Given the description of an element on the screen output the (x, y) to click on. 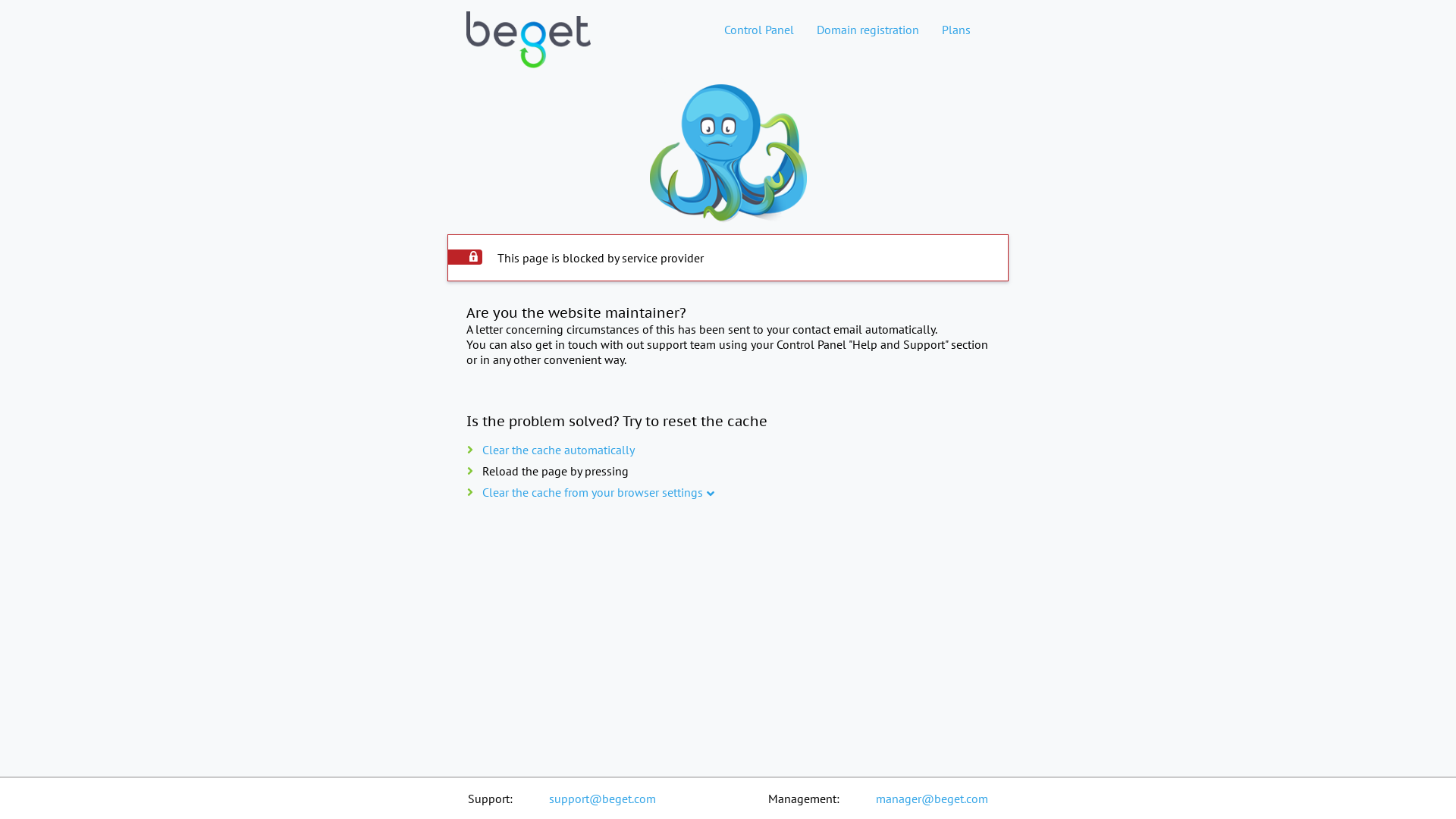
manager@beget.com Element type: text (931, 798)
Clear the cache from your browser settings Element type: text (592, 491)
Domain registration Element type: text (867, 29)
Plans Element type: text (956, 29)
Control Panel Element type: text (758, 29)
Web hosting home page Element type: hover (528, 51)
Clear the cache automatically Element type: text (558, 449)
support@beget.com Element type: text (602, 798)
